Given the description of an element on the screen output the (x, y) to click on. 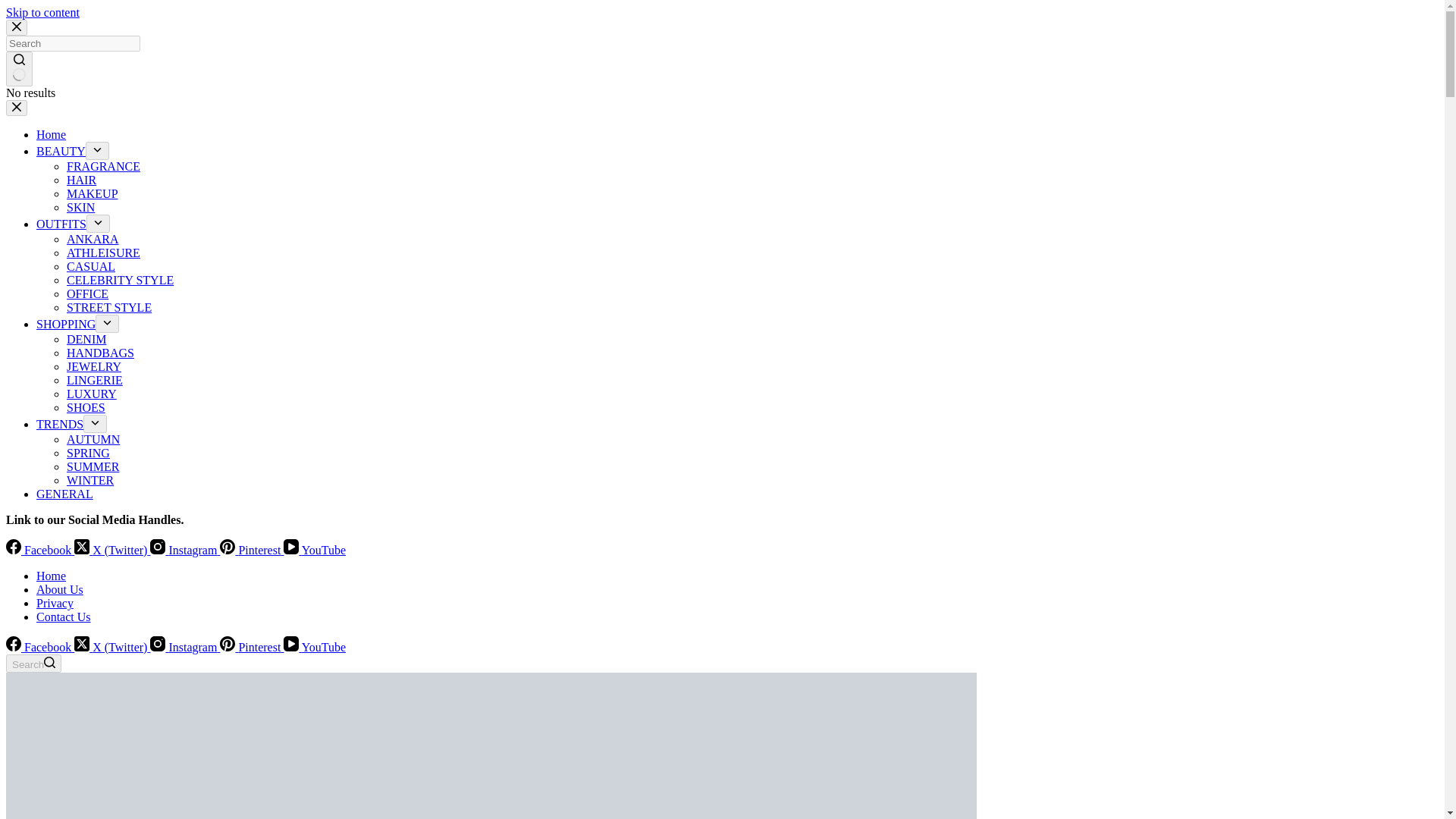
JEWELRY (93, 366)
Search for... (72, 43)
SHOES (85, 407)
FRAGRANCE (102, 165)
BEAUTY (60, 151)
ATHLEISURE (102, 252)
Instagram (184, 549)
MAKEUP (91, 193)
GENERAL (64, 493)
LINGERIE (94, 379)
WINTER (89, 480)
SPRING (88, 452)
Home (50, 575)
YouTube (314, 549)
LUXURY (91, 393)
